Given the description of an element on the screen output the (x, y) to click on. 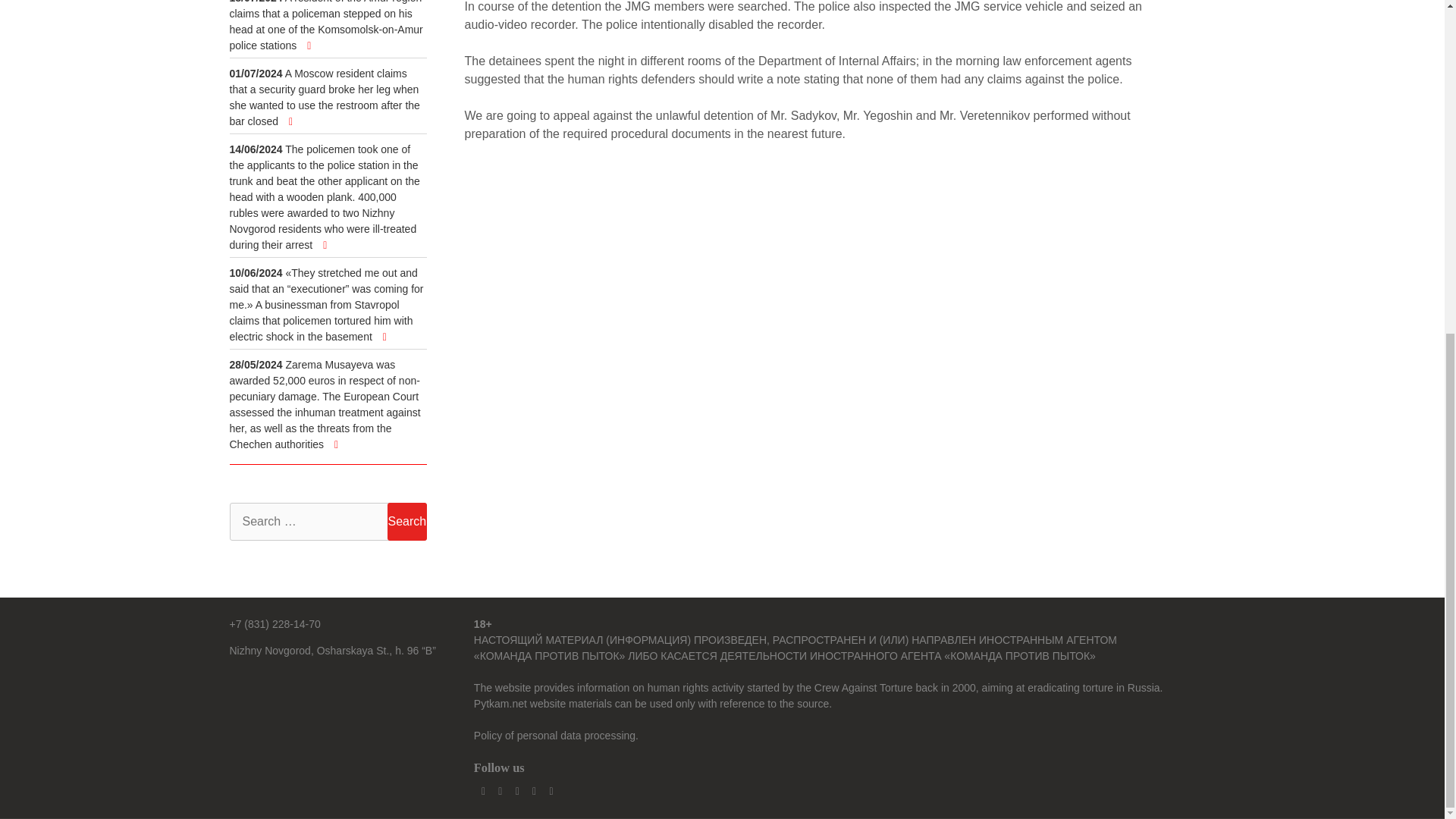
Search (406, 521)
data processing. (599, 735)
Search (406, 521)
Search (406, 521)
Pytkam.net (500, 703)
